Given the description of an element on the screen output the (x, y) to click on. 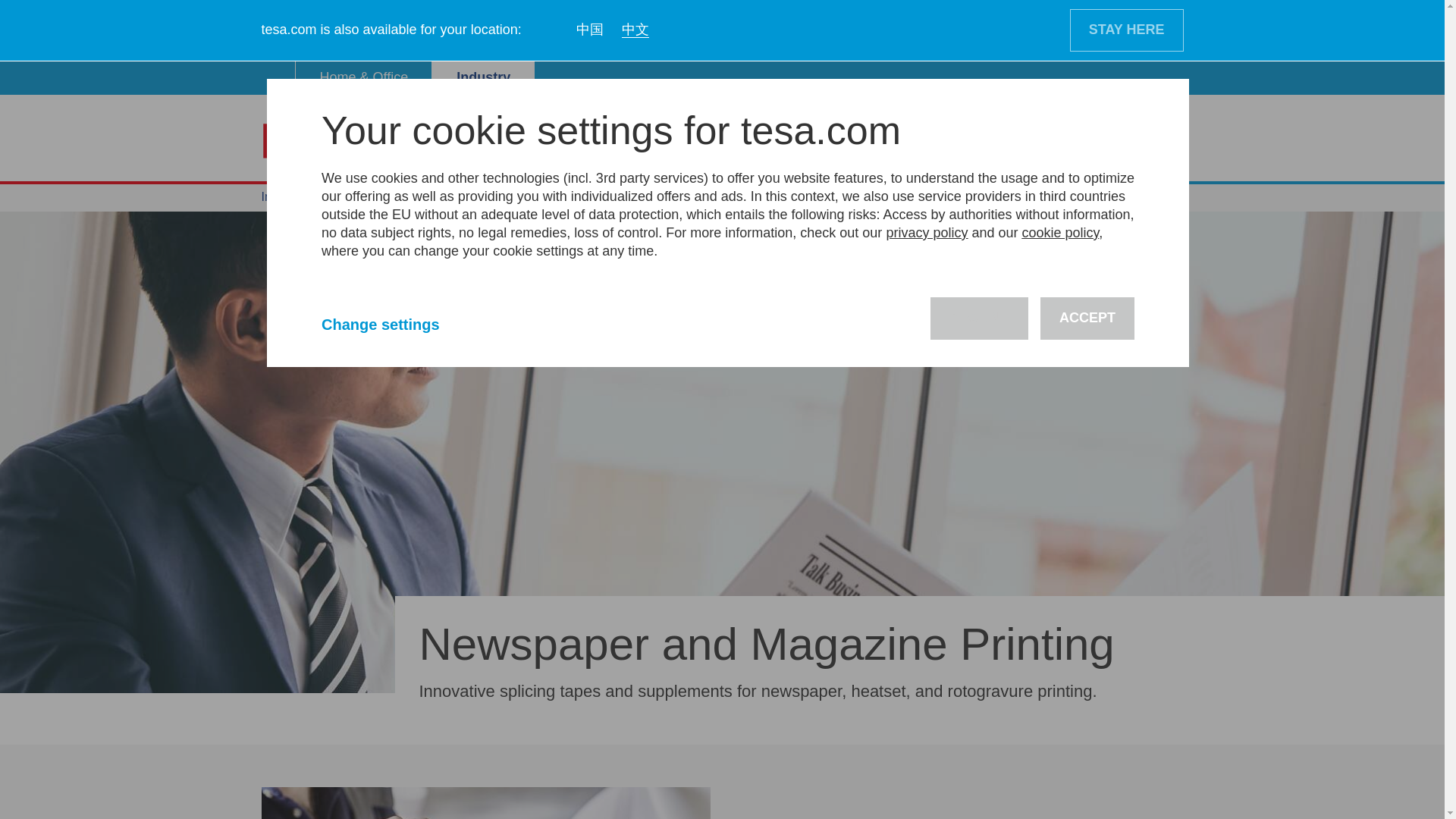
EN (1164, 141)
Sustainability (741, 141)
DECLINE (978, 318)
Industry (483, 78)
Markets (455, 141)
ACCEPT (1087, 318)
cookie policy (1060, 232)
Applications (547, 141)
Switch to other country or language (1164, 141)
Splicing Tapes for Paper Printing (485, 803)
Search (1115, 140)
Products (642, 141)
STAY HERE (1126, 30)
Change settings (397, 324)
privacy policy (926, 232)
